Given the description of an element on the screen output the (x, y) to click on. 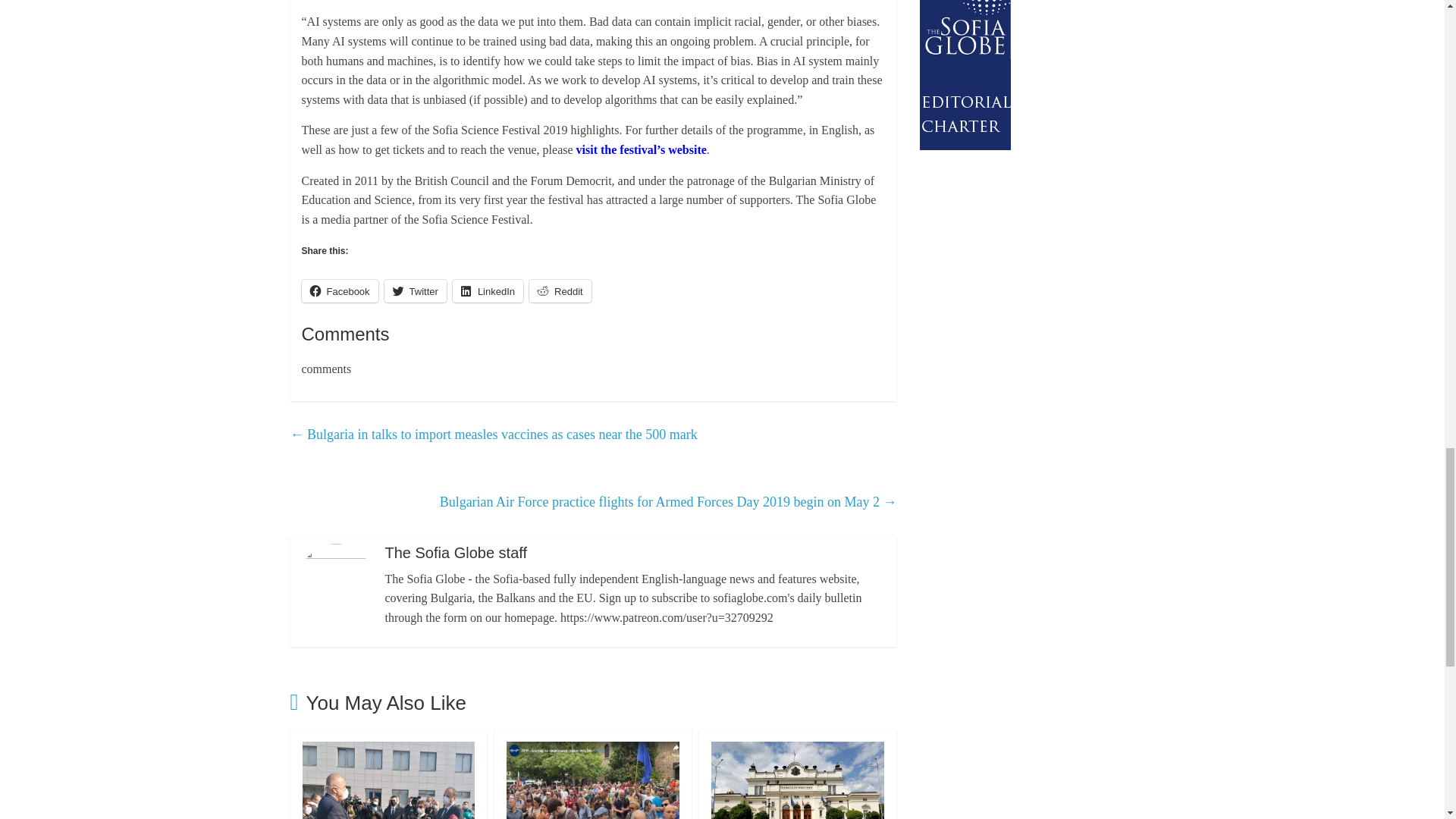
LinkedIn (487, 291)
Click to share on Facebook (339, 291)
Twitter (415, 291)
Click to share on LinkedIn (487, 291)
Click to share on Reddit (560, 291)
Click to share on Twitter (415, 291)
Reddit (560, 291)
Facebook (339, 291)
